Given the description of an element on the screen output the (x, y) to click on. 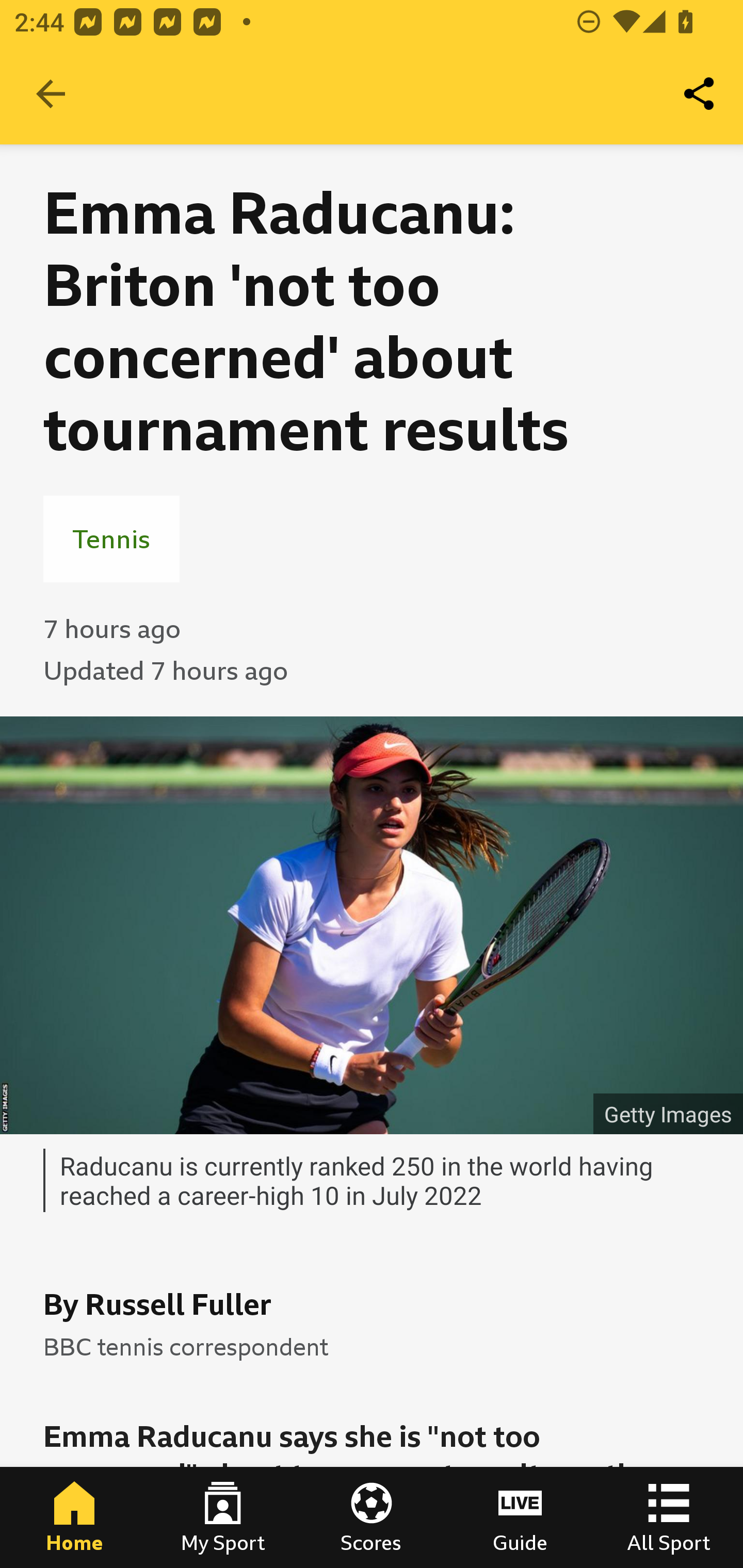
Navigate up (50, 93)
Share (699, 93)
Tennis (111, 538)
My Sport (222, 1517)
Scores (371, 1517)
Guide (519, 1517)
All Sport (668, 1517)
